Given the description of an element on the screen output the (x, y) to click on. 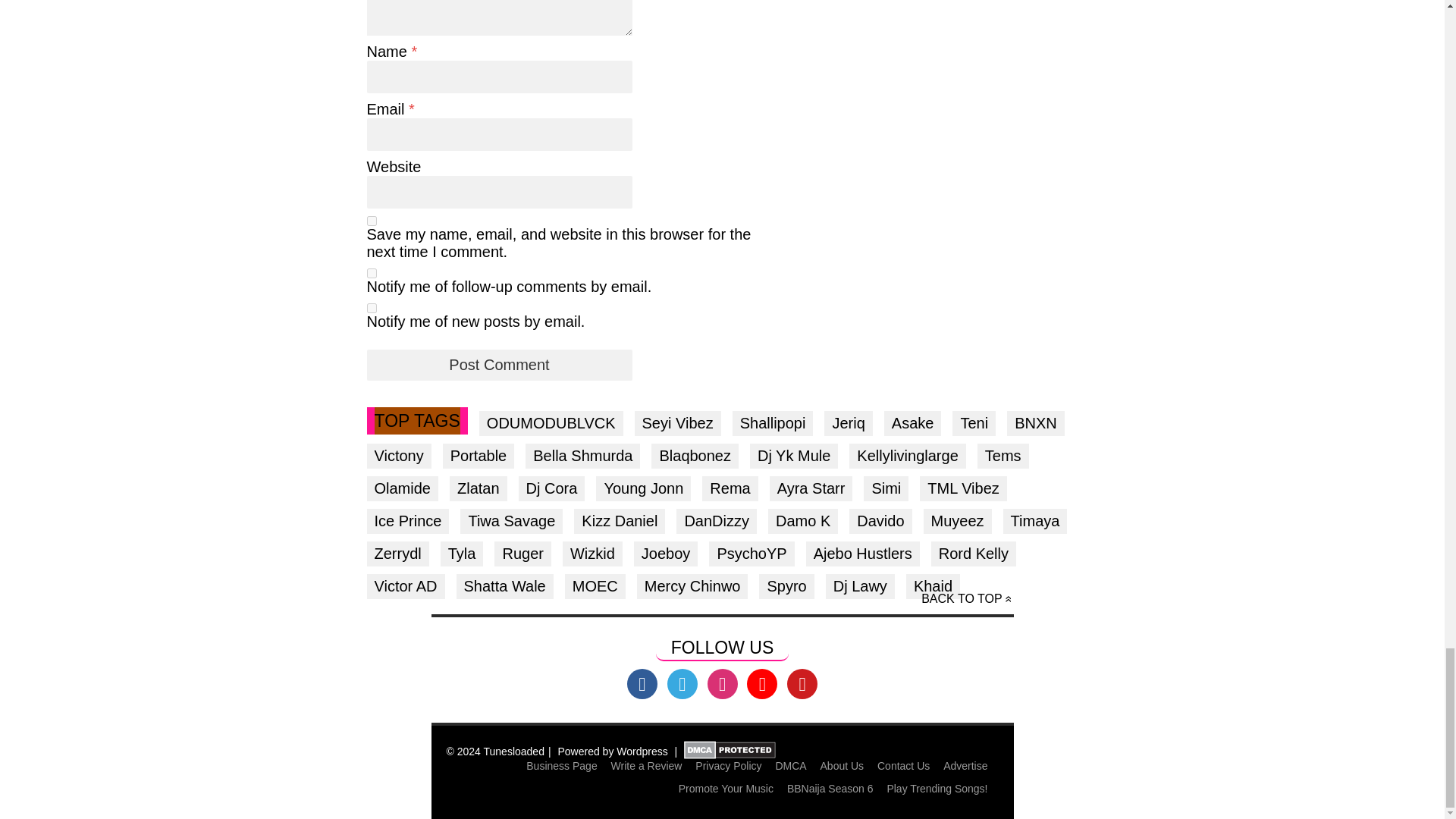
subscribe (371, 273)
subscribe (371, 307)
Post Comment (498, 364)
yes (371, 221)
